Given the description of an element on the screen output the (x, y) to click on. 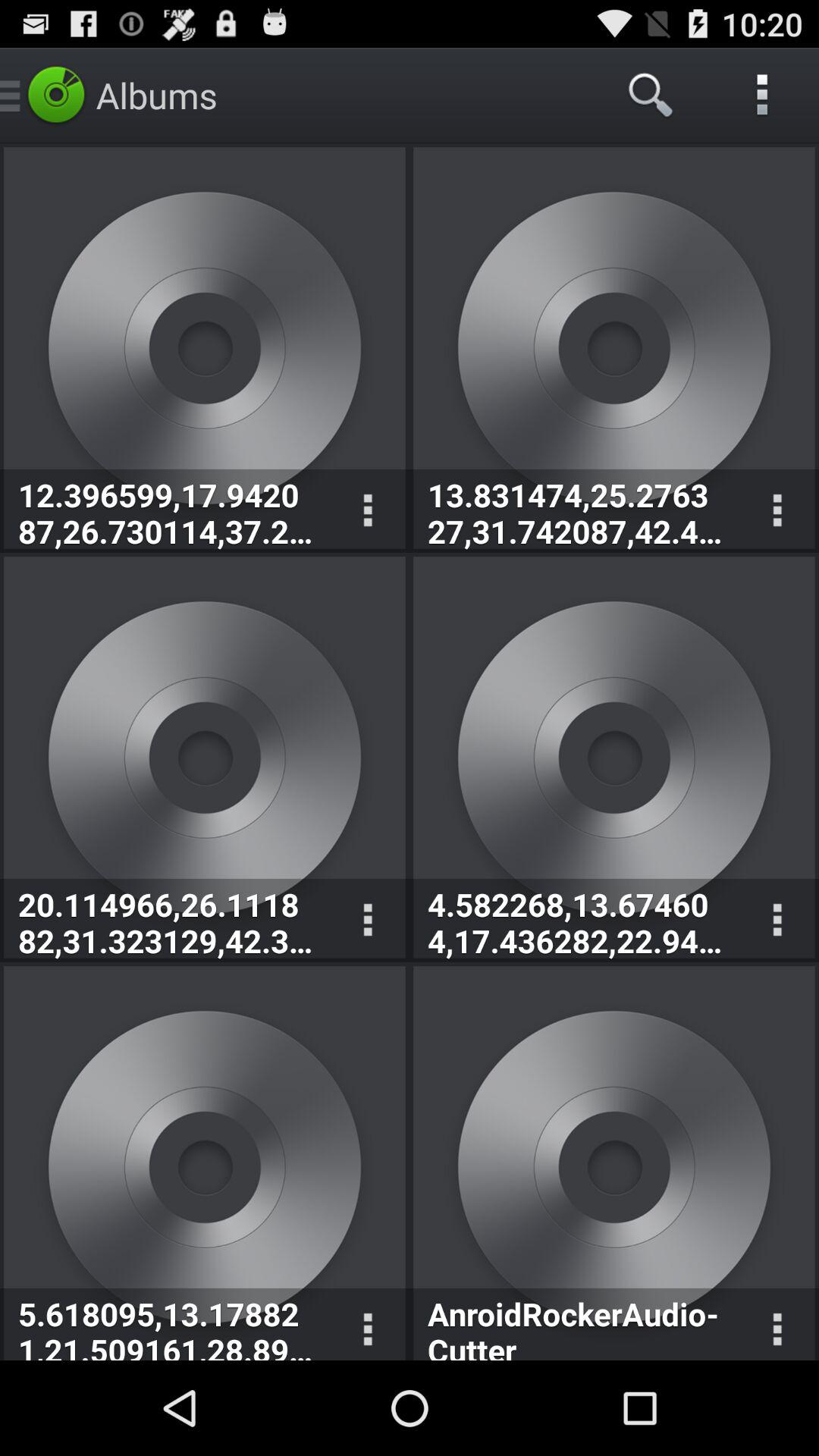
go to drop down (777, 920)
